Given the description of an element on the screen output the (x, y) to click on. 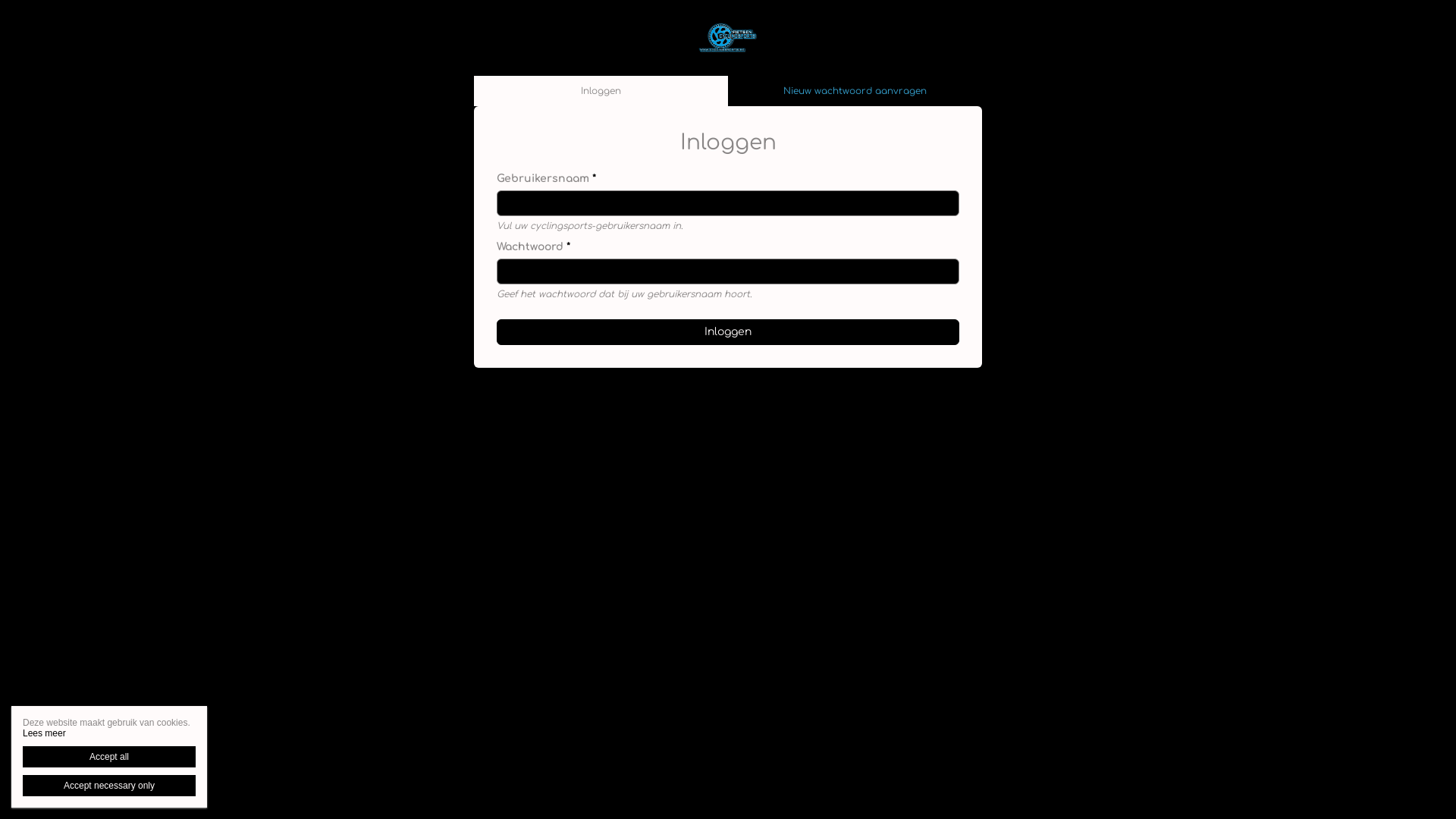
Nieuw wachtwoord aanvragen Element type: text (855, 90)
Home Element type: hover (727, 37)
Home Element type: hover (727, 37)
Accept necessary only Element type: text (108, 785)
Accept all Element type: text (108, 756)
Overslaan en naar de inhoud gaan Element type: text (81, 0)
Lees meer Element type: text (43, 733)
Inloggen Element type: text (727, 332)
Inloggen Element type: text (600, 90)
